Given the description of an element on the screen output the (x, y) to click on. 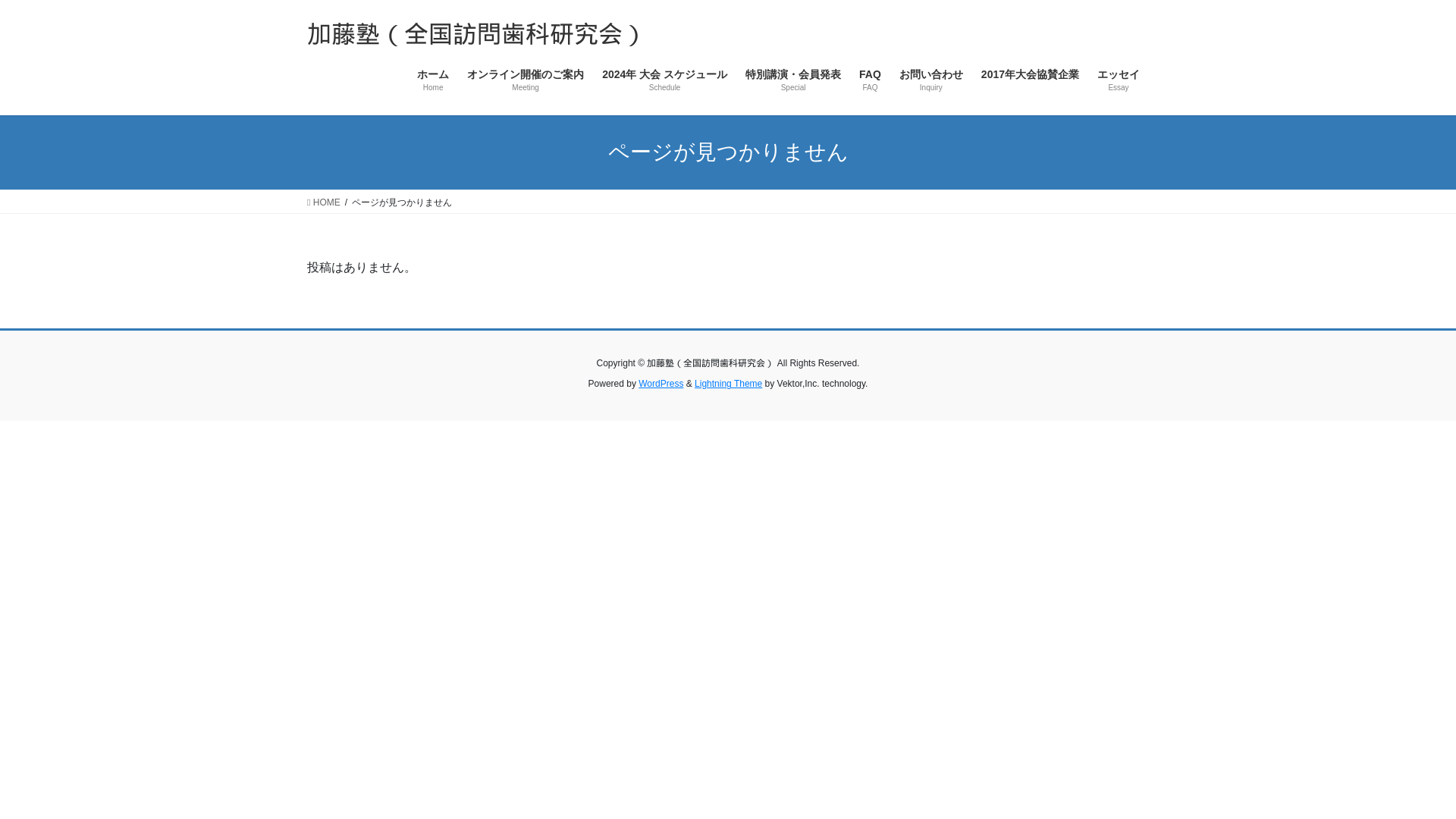
HOME (323, 201)
Free WordPress Theme Lightning (727, 383)
WordPress (660, 383)
Lightning Theme (727, 383)
